Given the description of an element on the screen output the (x, y) to click on. 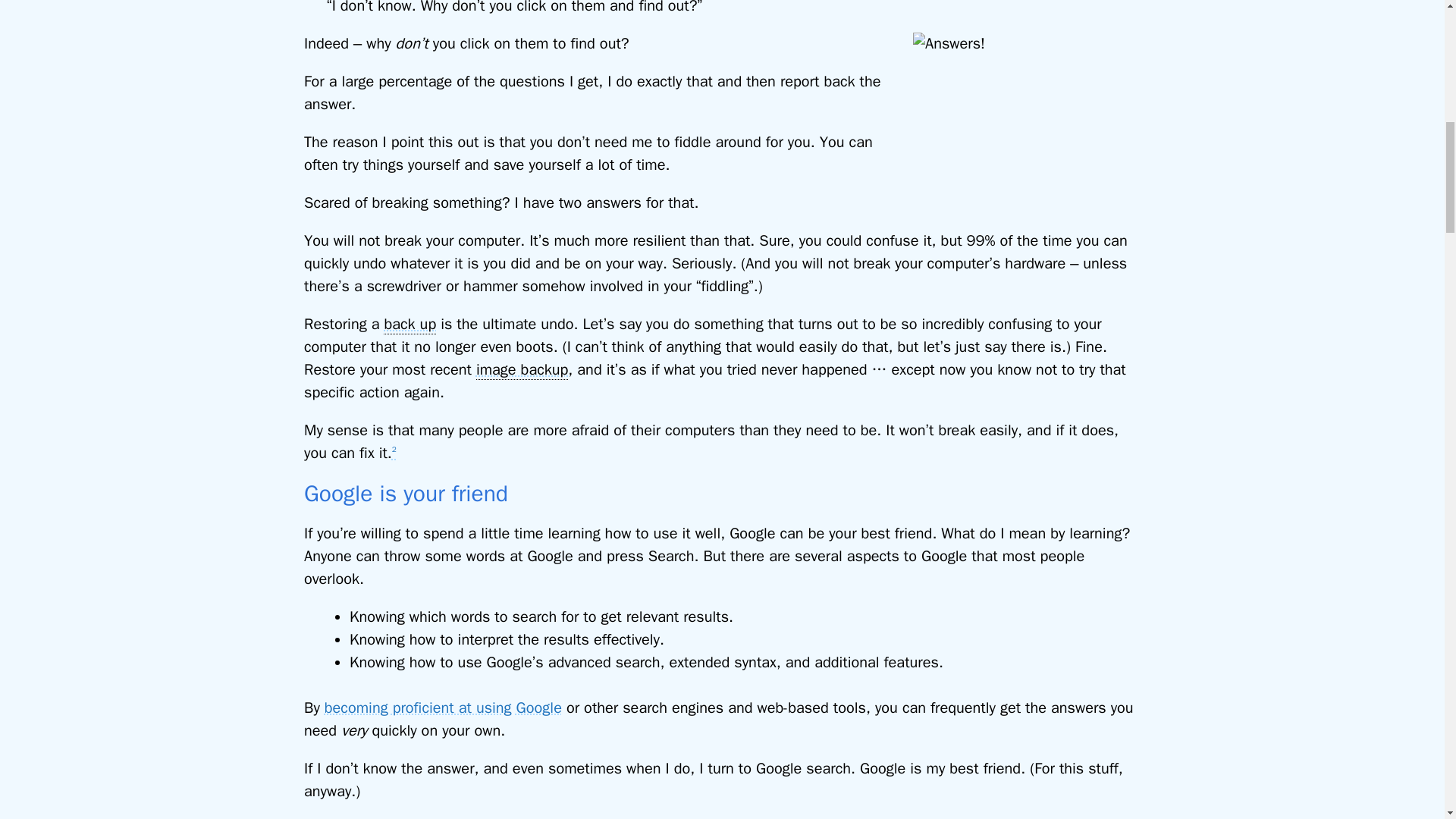
becoming proficient at using Google (443, 707)
image backup (521, 370)
2 (393, 452)
back up (409, 324)
